Given the description of an element on the screen output the (x, y) to click on. 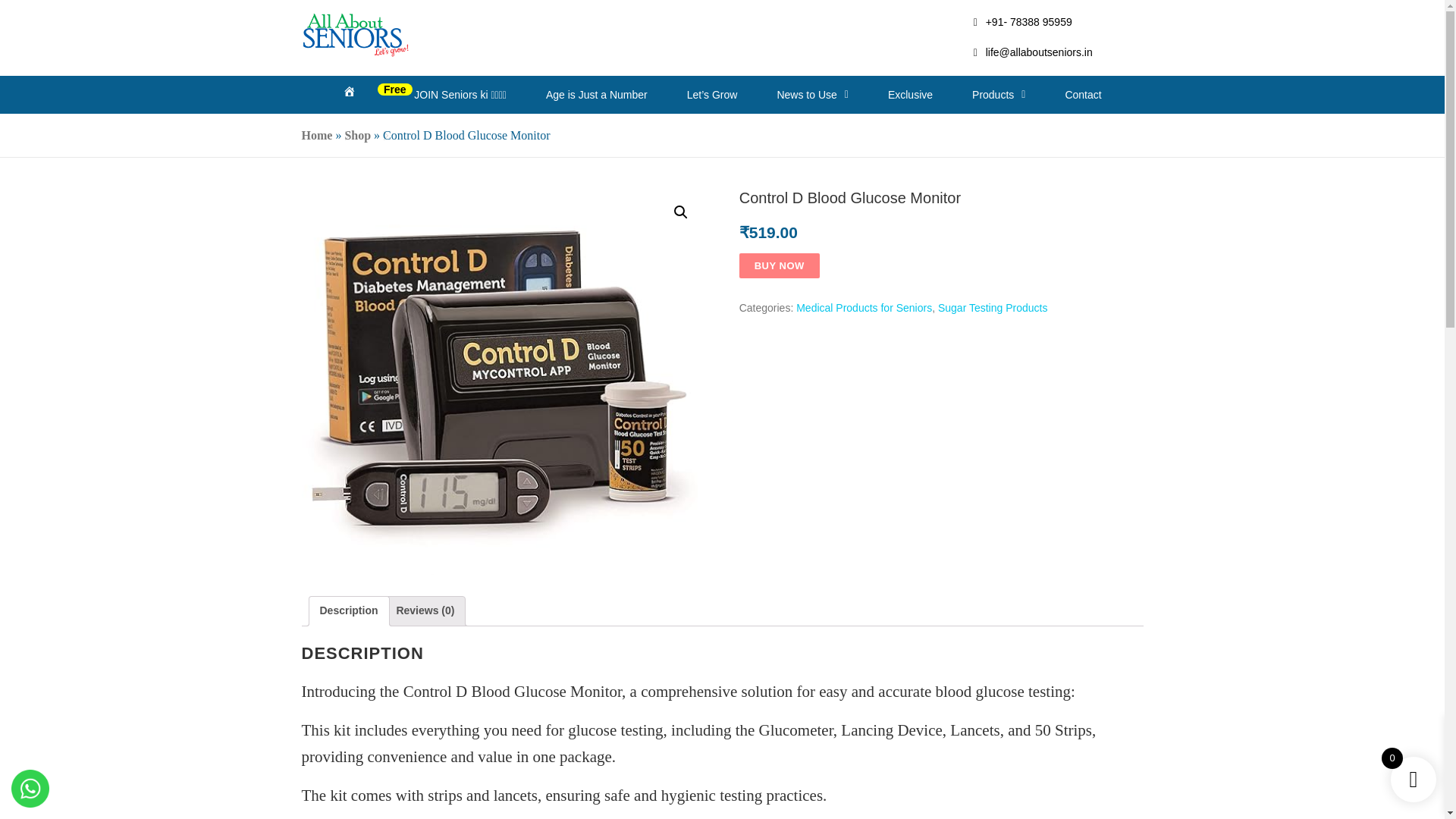
Contact (1083, 94)
Products (998, 94)
Exclusive (909, 94)
Home (317, 134)
News to Use (812, 94)
Age is Just a Number (595, 94)
Shop (357, 134)
Home (349, 93)
